Given the description of an element on the screen output the (x, y) to click on. 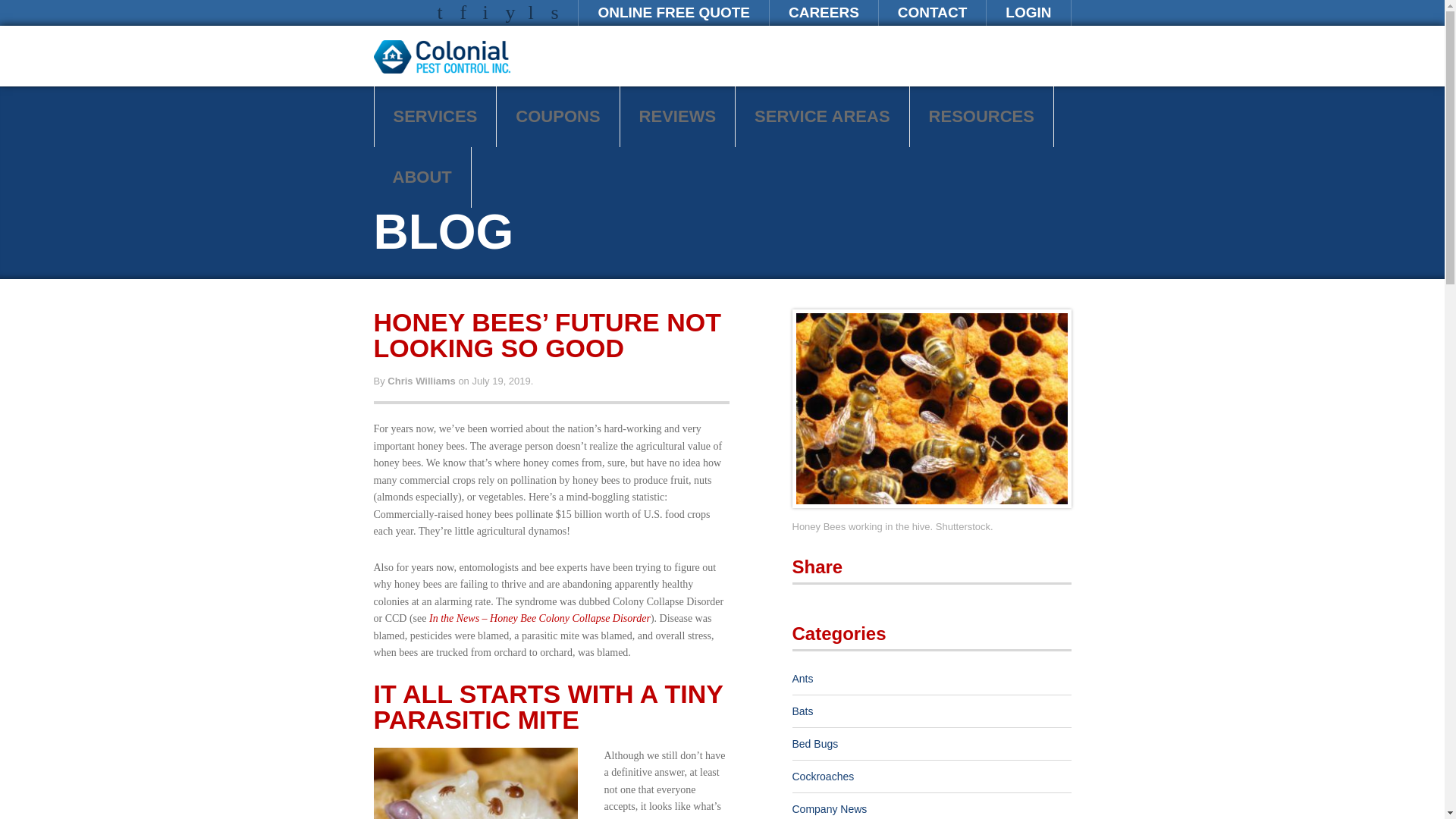
CAREERS (823, 12)
ONLINE FREE QUOTE (673, 12)
CONTACT (932, 12)
RESOURCES (981, 116)
REVIEWS (677, 116)
COUPONS (557, 116)
LOGIN (1028, 12)
SERVICES (435, 116)
SERVICE AREAS (821, 116)
